Given the description of an element on the screen output the (x, y) to click on. 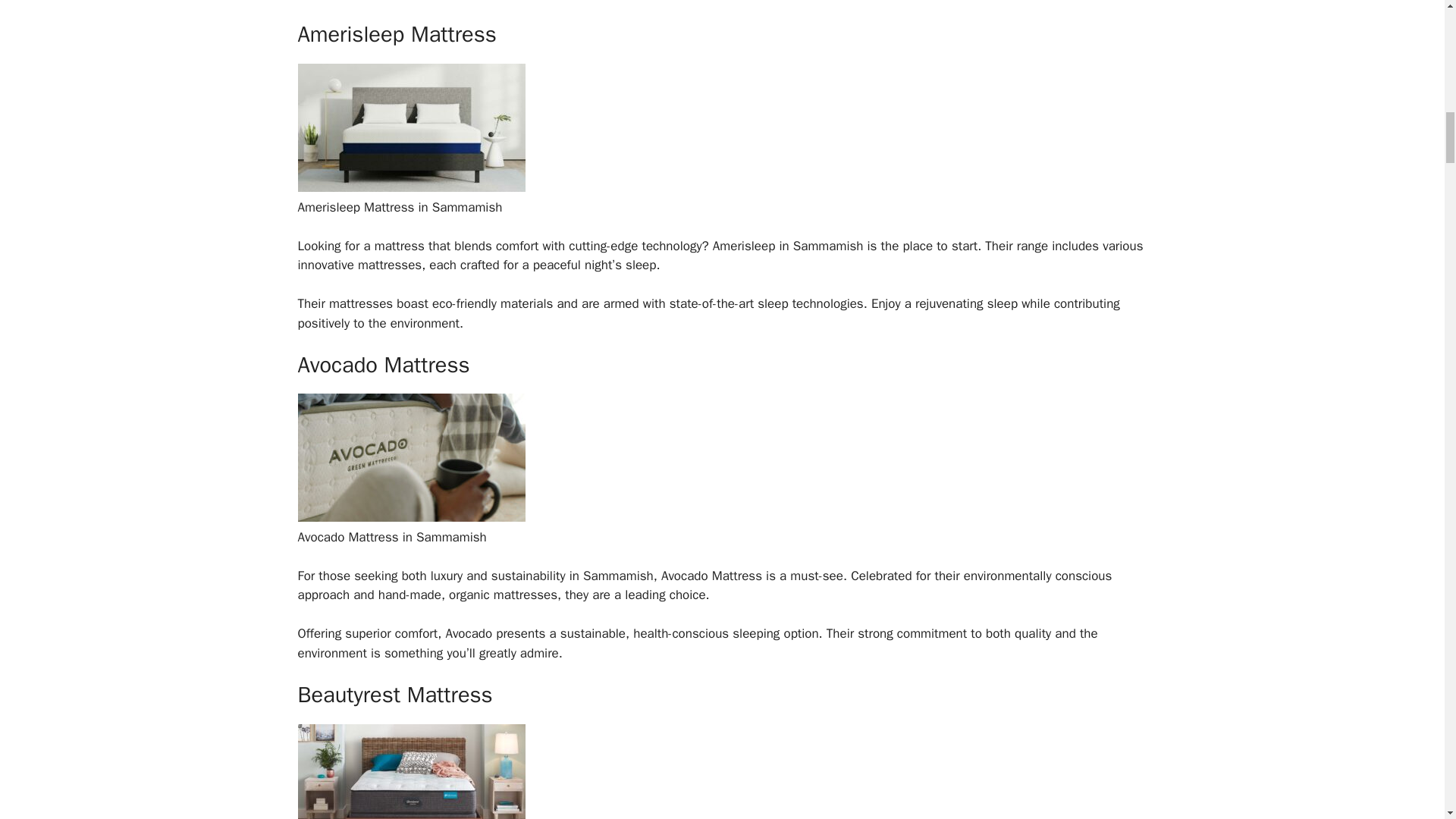
Avocado Mattress Sammamish (410, 517)
Amerisleep Mattress Sammamish (410, 187)
